Given the description of an element on the screen output the (x, y) to click on. 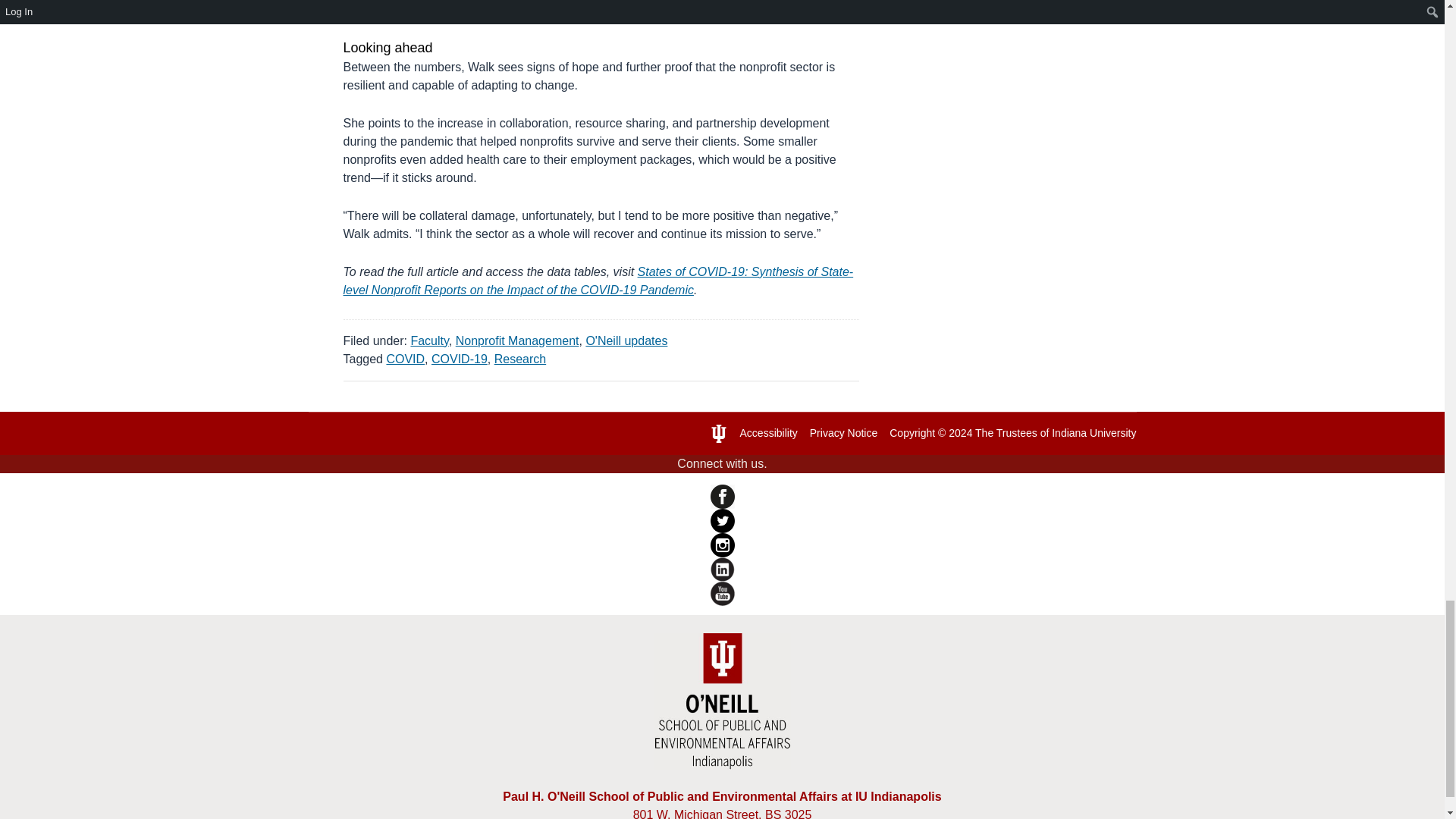
Faculty (429, 340)
O'Neill updates (625, 340)
COVID-19 (458, 358)
Nonprofit Management (517, 340)
Privacy Notice (843, 432)
Accessibility (768, 432)
COVID (405, 358)
Indiana University (1093, 432)
Research (520, 358)
Copyright (911, 432)
